Given the description of an element on the screen output the (x, y) to click on. 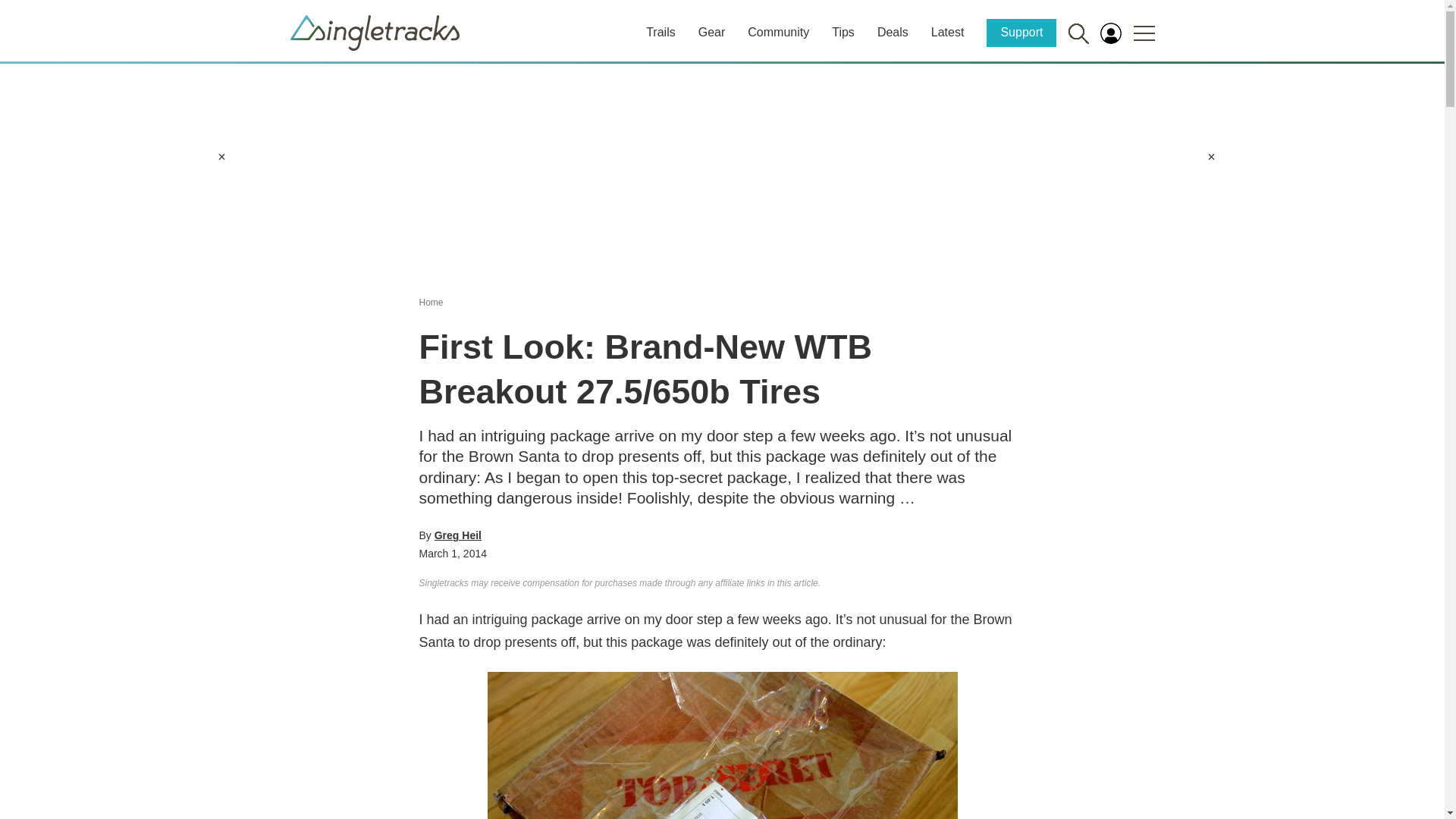
Community (778, 31)
View all posts by Greg Heil (457, 535)
Deals (892, 31)
close (1211, 156)
Latest (947, 31)
3rd party ad content (721, 169)
Gear (711, 31)
close (221, 156)
Trails (660, 31)
Support (1022, 32)
Tips (842, 31)
